Given the description of an element on the screen output the (x, y) to click on. 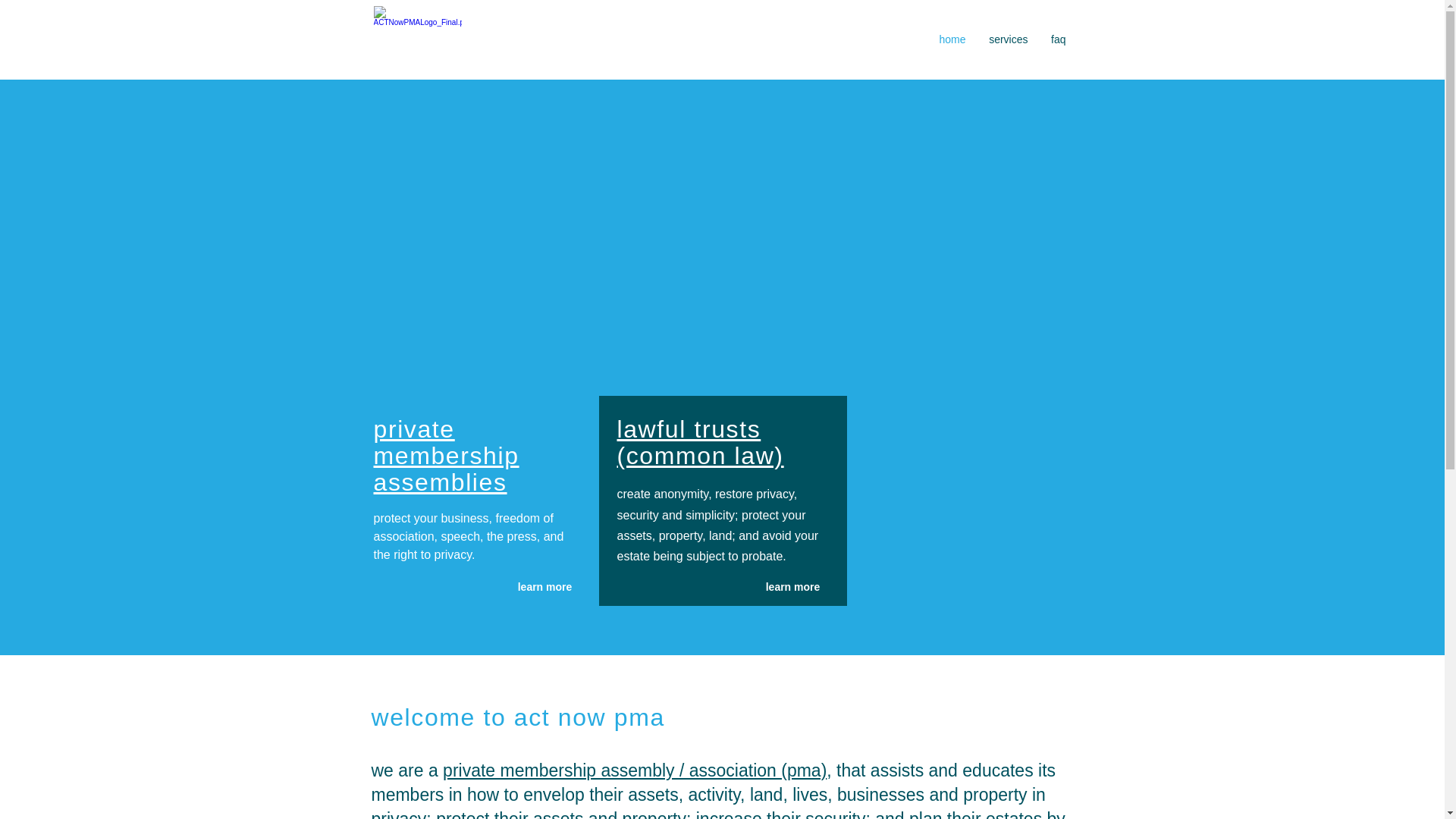
learn more (545, 587)
learn more (791, 587)
private membership assemblies (445, 455)
home (951, 38)
faq (1058, 38)
services (1007, 38)
